Given the description of an element on the screen output the (x, y) to click on. 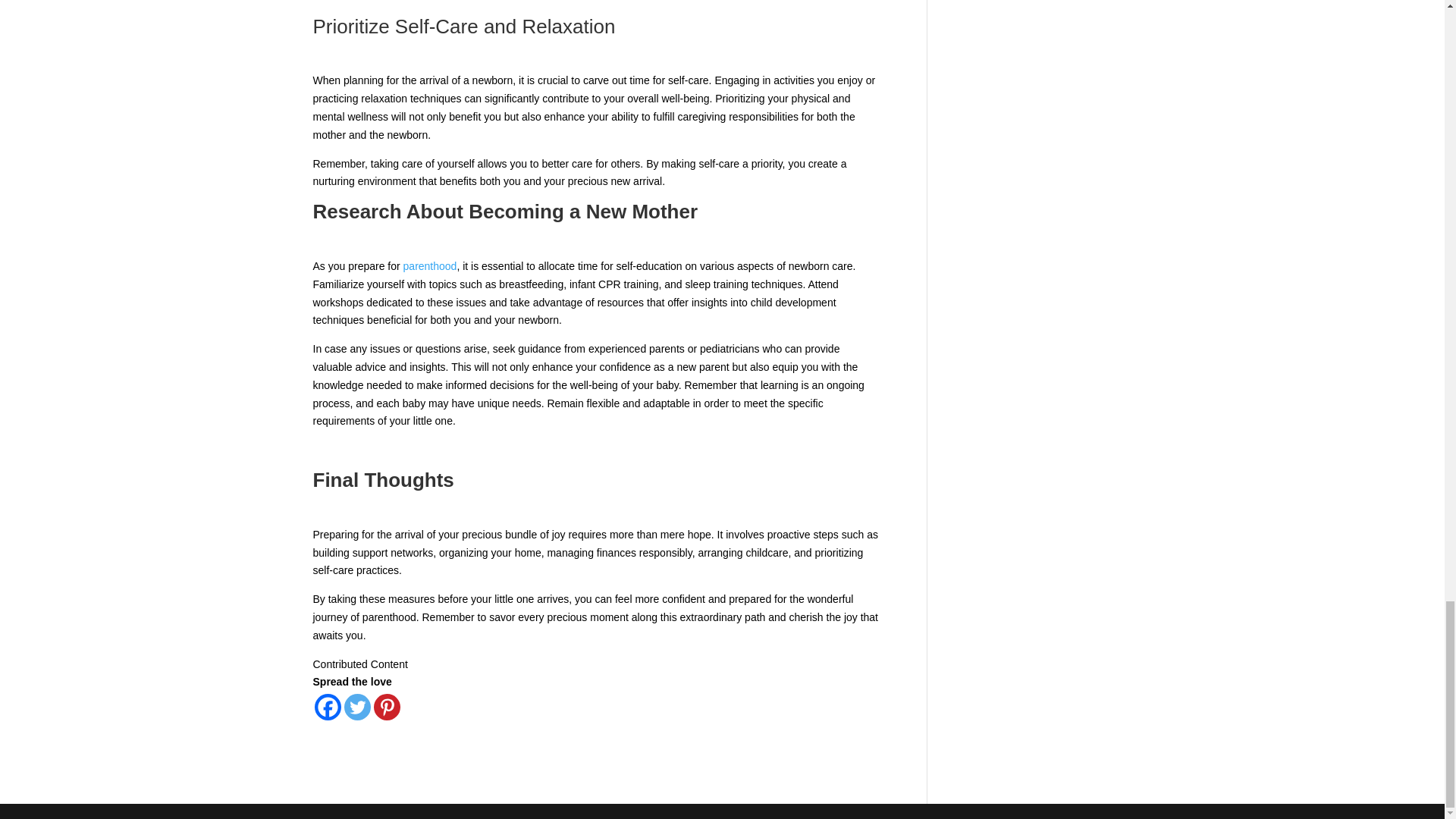
parenthood (430, 265)
Facebook (327, 706)
Pinterest (385, 706)
Twitter (357, 706)
